Given the description of an element on the screen output the (x, y) to click on. 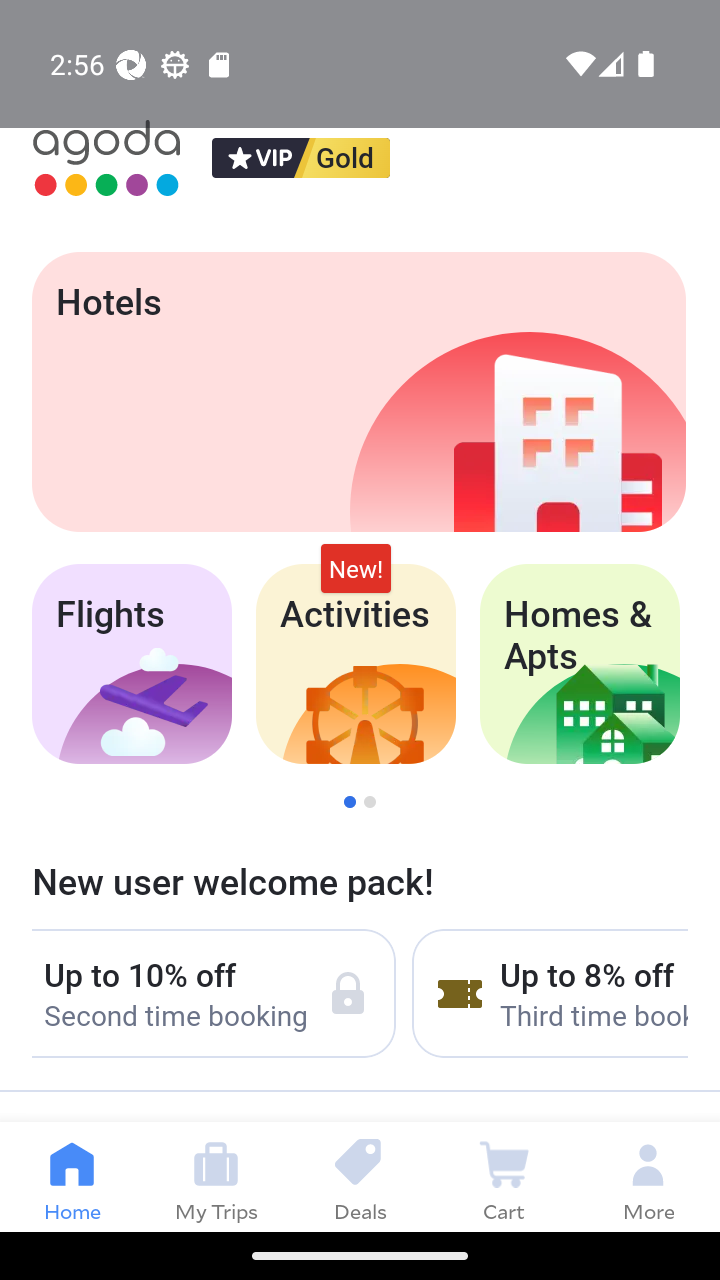
Hotels (358, 392)
New! (355, 568)
Flights (131, 664)
Activities (355, 664)
Homes & Apts (579, 664)
Home (72, 1176)
My Trips (216, 1176)
Deals (360, 1176)
Cart (504, 1176)
More (648, 1176)
